Given the description of an element on the screen output the (x, y) to click on. 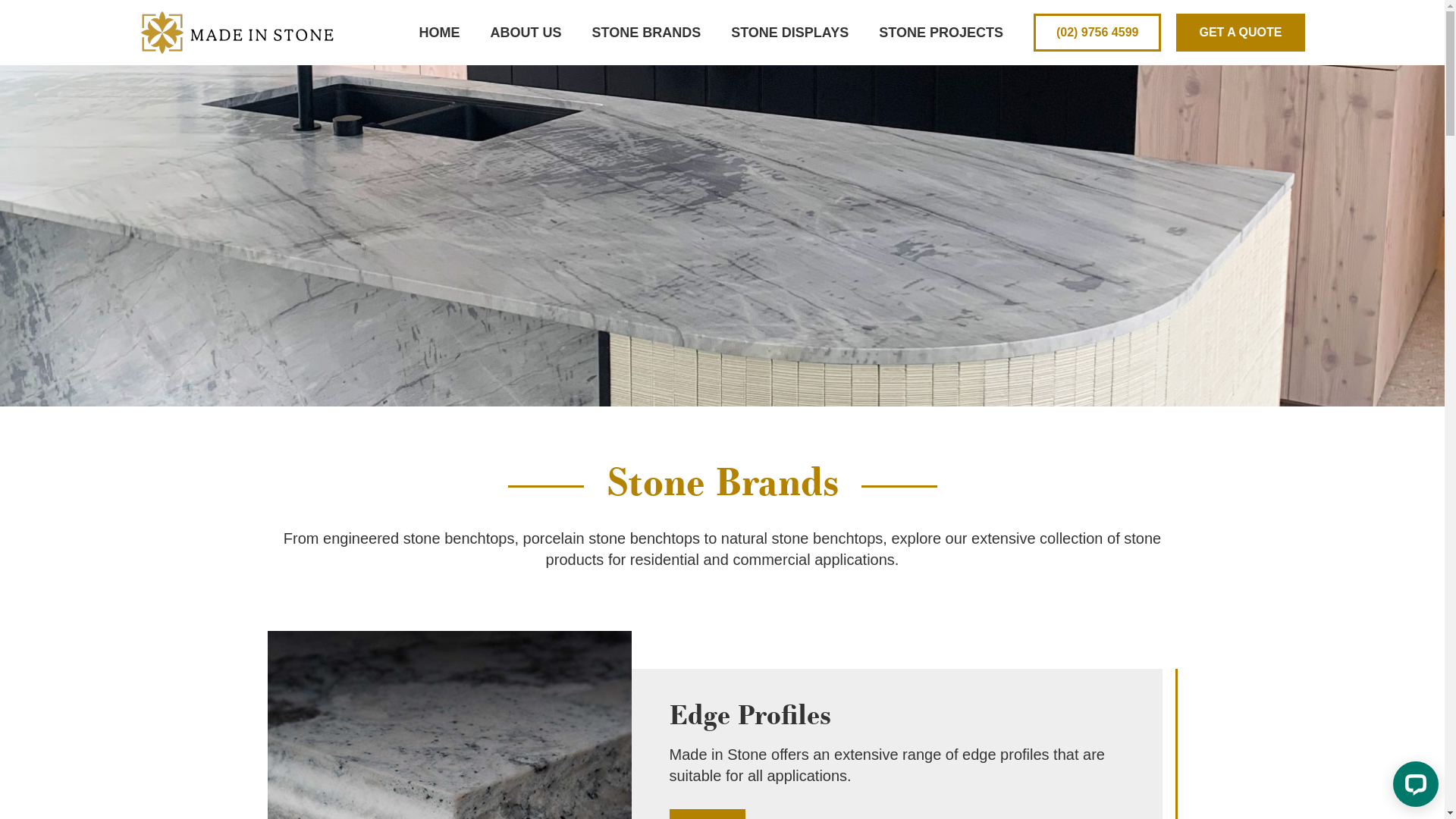
ABOUT US Element type: text (525, 32)
GET A QUOTE Element type: text (1240, 32)
STONE PROJECTS Element type: text (940, 32)
STONE BRANDS Element type: text (645, 32)
STONE DISPLAYS Element type: text (789, 32)
HOME Element type: text (438, 32)
(02) 9756 4599 Element type: text (1097, 32)
